Given the description of an element on the screen output the (x, y) to click on. 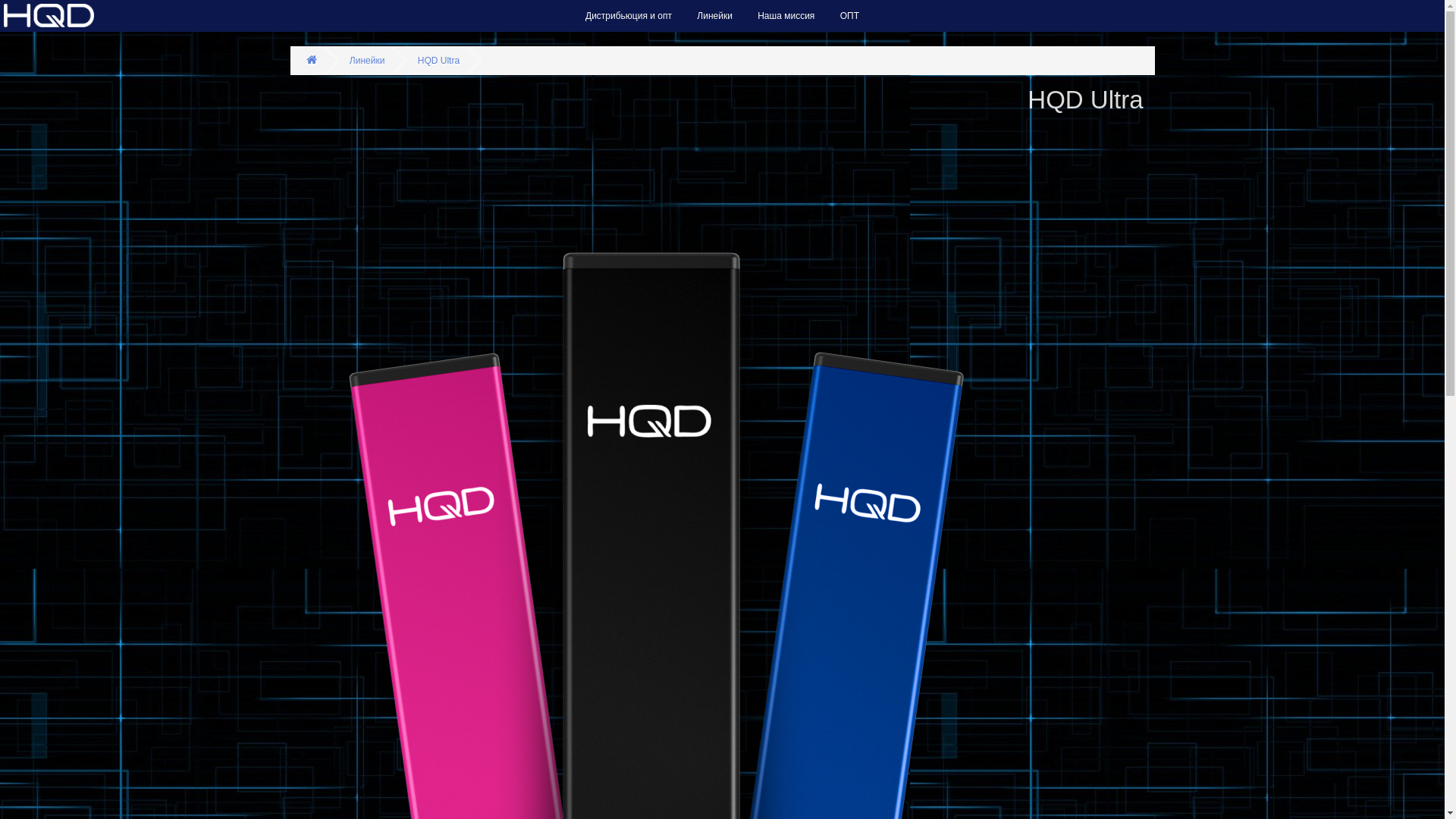
HQD Ultra Element type: text (438, 60)
